Given the description of an element on the screen output the (x, y) to click on. 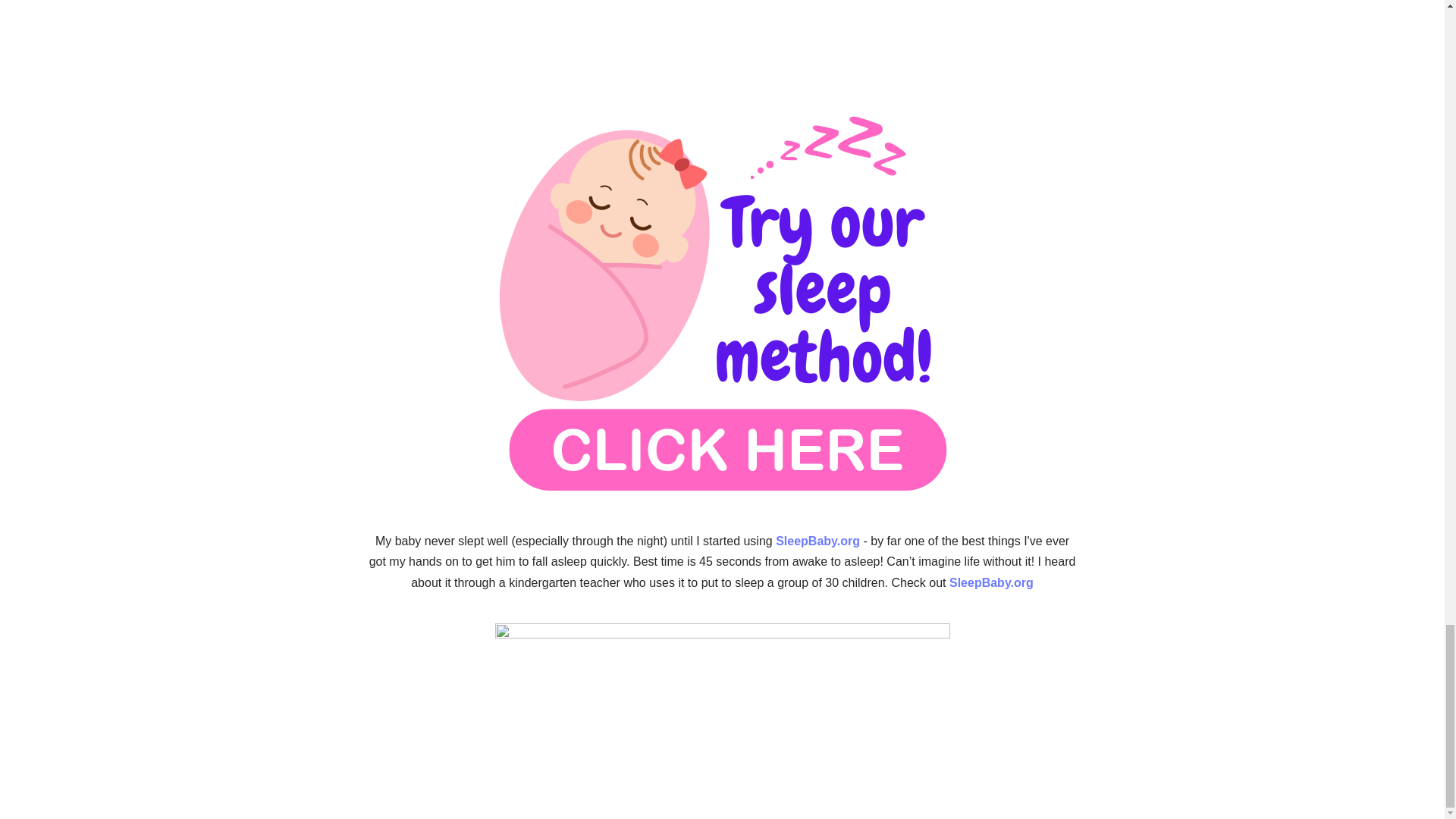
SleepBaby.org (991, 582)
SleepBaby.org (818, 540)
